Given the description of an element on the screen output the (x, y) to click on. 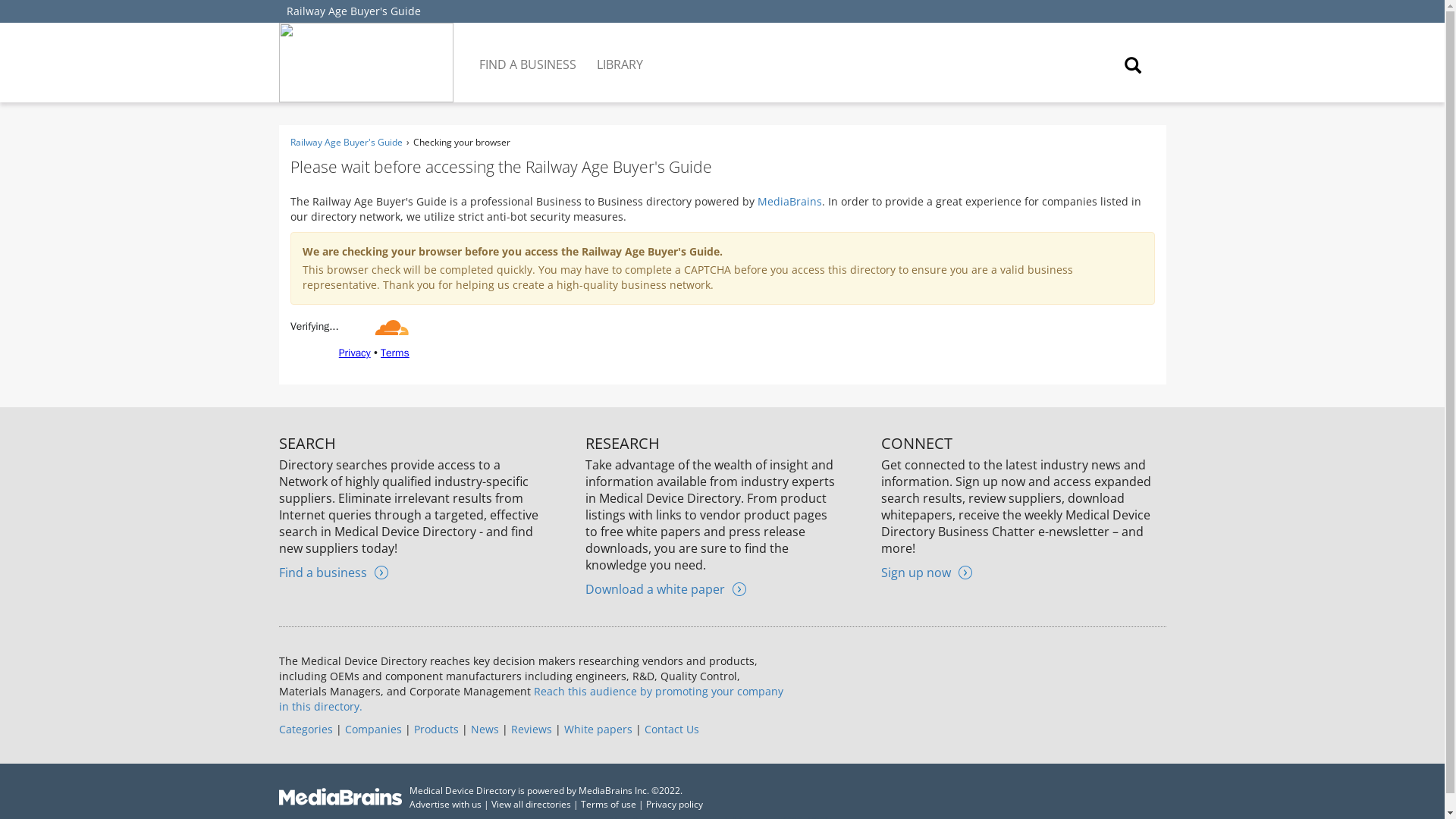
White papers (597, 728)
FIND A BUSINESS (528, 52)
Terms of use (608, 803)
LIBRARY (620, 52)
Find a business (333, 572)
Privacy policy (674, 803)
Companies (372, 728)
Reviews (531, 728)
Categories (306, 728)
MediaBrains (789, 201)
View all directories (531, 803)
Sign up now (926, 572)
Products (435, 728)
Advertise with us (445, 803)
